Given the description of an element on the screen output the (x, y) to click on. 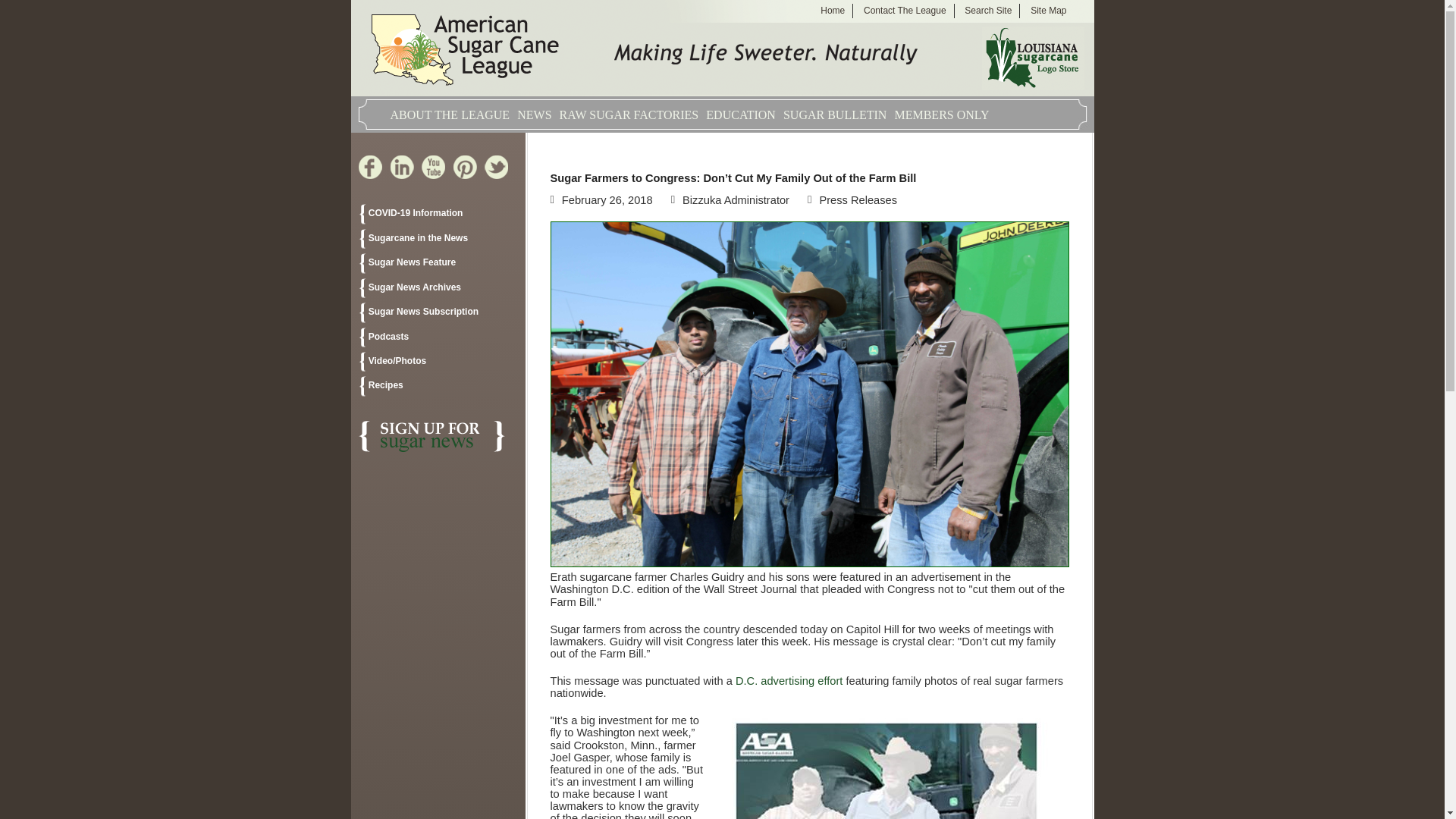
MEMBERS ONLY (940, 111)
SUGAR BULLETIN (834, 111)
Bizzuka Administrator (735, 200)
Home (832, 11)
Contact The League (904, 11)
Recipes (438, 386)
RAW SUGAR FACTORIES (628, 111)
Search Site (987, 11)
D.C. advertising effort (789, 680)
Sugar News Feature (438, 263)
Podcasts (438, 338)
ABOUT THE LEAGUE (449, 111)
Sugarcane in the News (438, 239)
EDUCATION (741, 111)
